Given the description of an element on the screen output the (x, y) to click on. 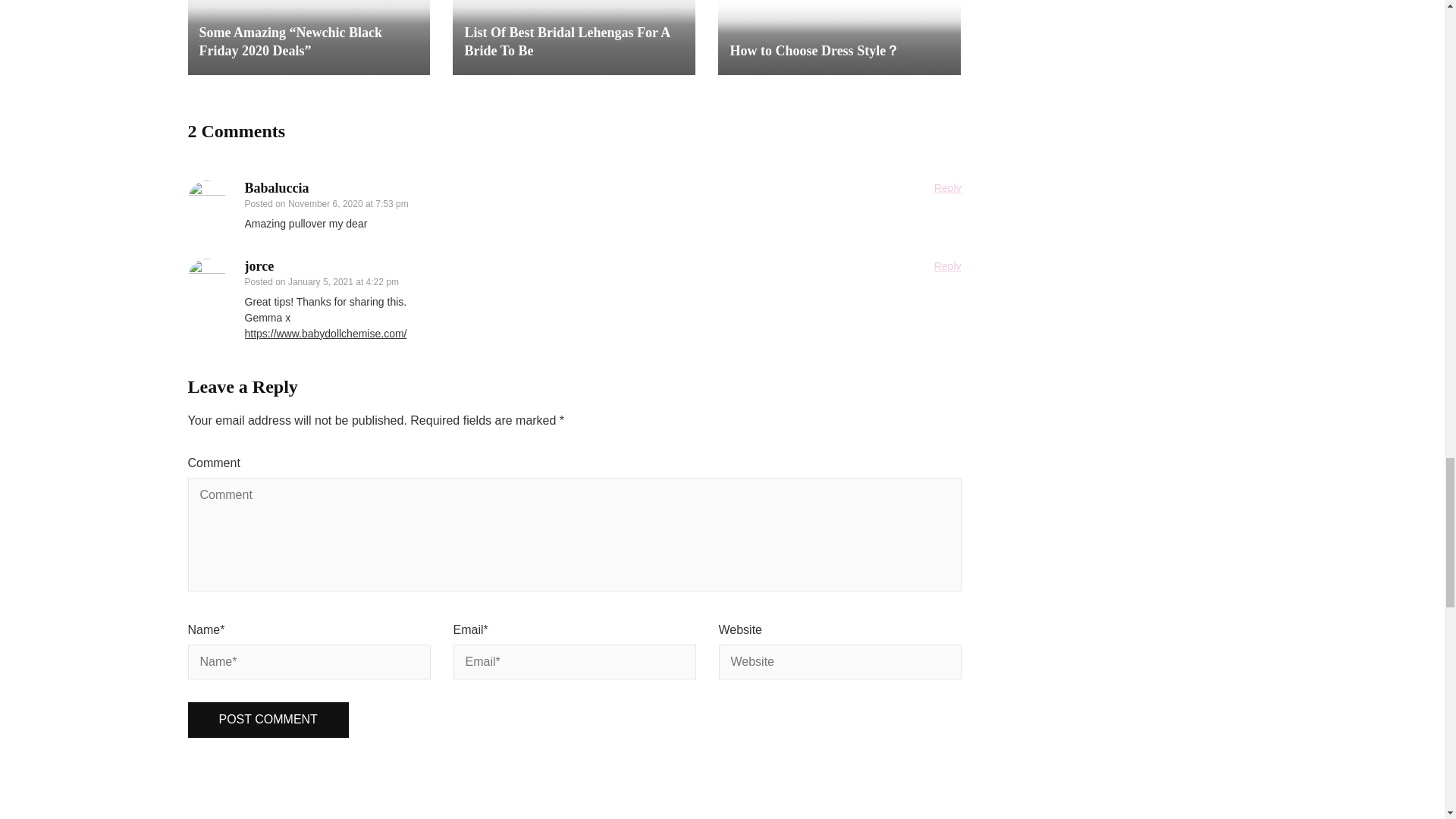
Post Comment (268, 719)
Advertisement (721, 782)
